Given the description of an element on the screen output the (x, y) to click on. 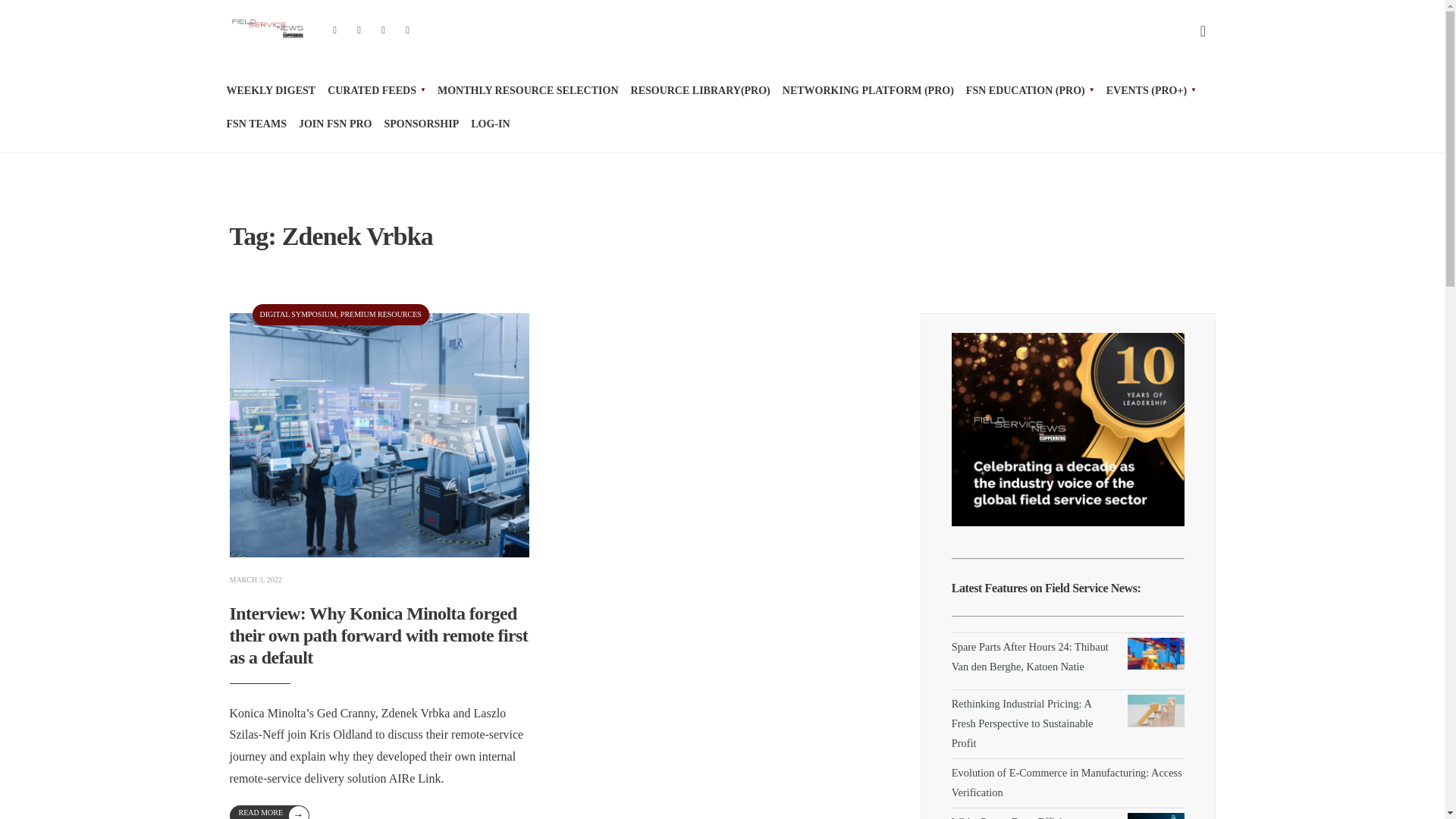
LOG-IN (489, 123)
WEEKLY DIGEST (270, 90)
CURATED FEEDS (376, 90)
Twitter (359, 30)
JOIN FSN PRO (334, 123)
Facebook (335, 30)
MONTHLY RESOURCE SELECTION (528, 90)
YouTube (383, 30)
DIGITAL SYMPOSIUM (297, 314)
PREMIUM RESOURCES (381, 314)
